Given the description of an element on the screen output the (x, y) to click on. 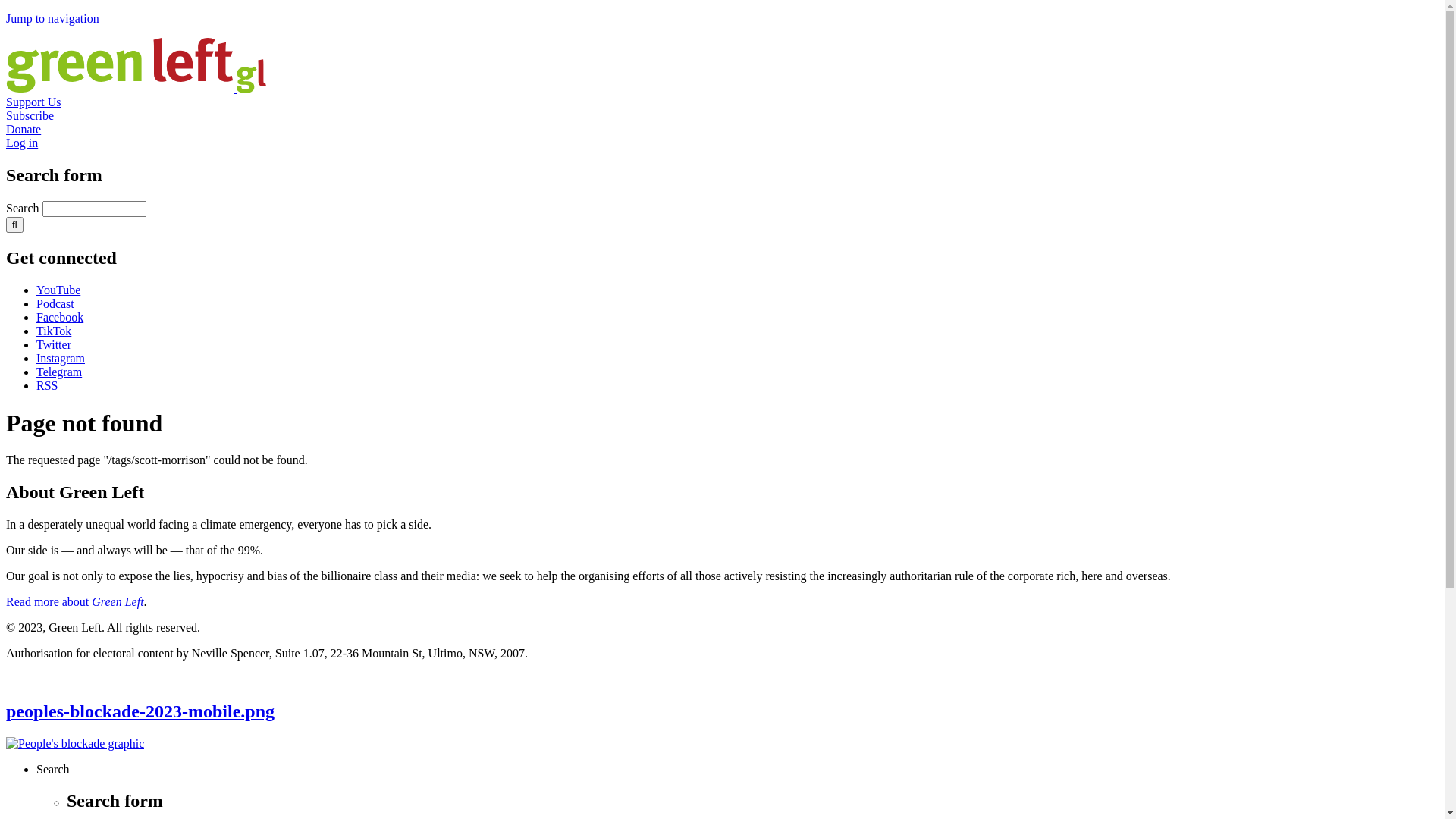
Donate Element type: text (23, 128)
Enter the terms you wish to search for. Element type: hover (94, 208)
Subscribe Element type: text (29, 115)
Log in Element type: text (21, 142)
Support Us Element type: text (33, 101)
TikTok Element type: text (53, 330)
peoples-blockade-2023-mobile.png Element type: text (140, 711)
YouTube Element type: text (58, 289)
Twitter Element type: text (53, 344)
Jump to navigation Element type: text (52, 18)
Facebook Element type: text (59, 316)
Instagram Element type: text (60, 357)
Telegram Element type: text (58, 371)
Podcast Element type: text (55, 303)
Read more about Green Left Element type: text (75, 601)
RSS Element type: text (46, 385)
